Given the description of an element on the screen output the (x, y) to click on. 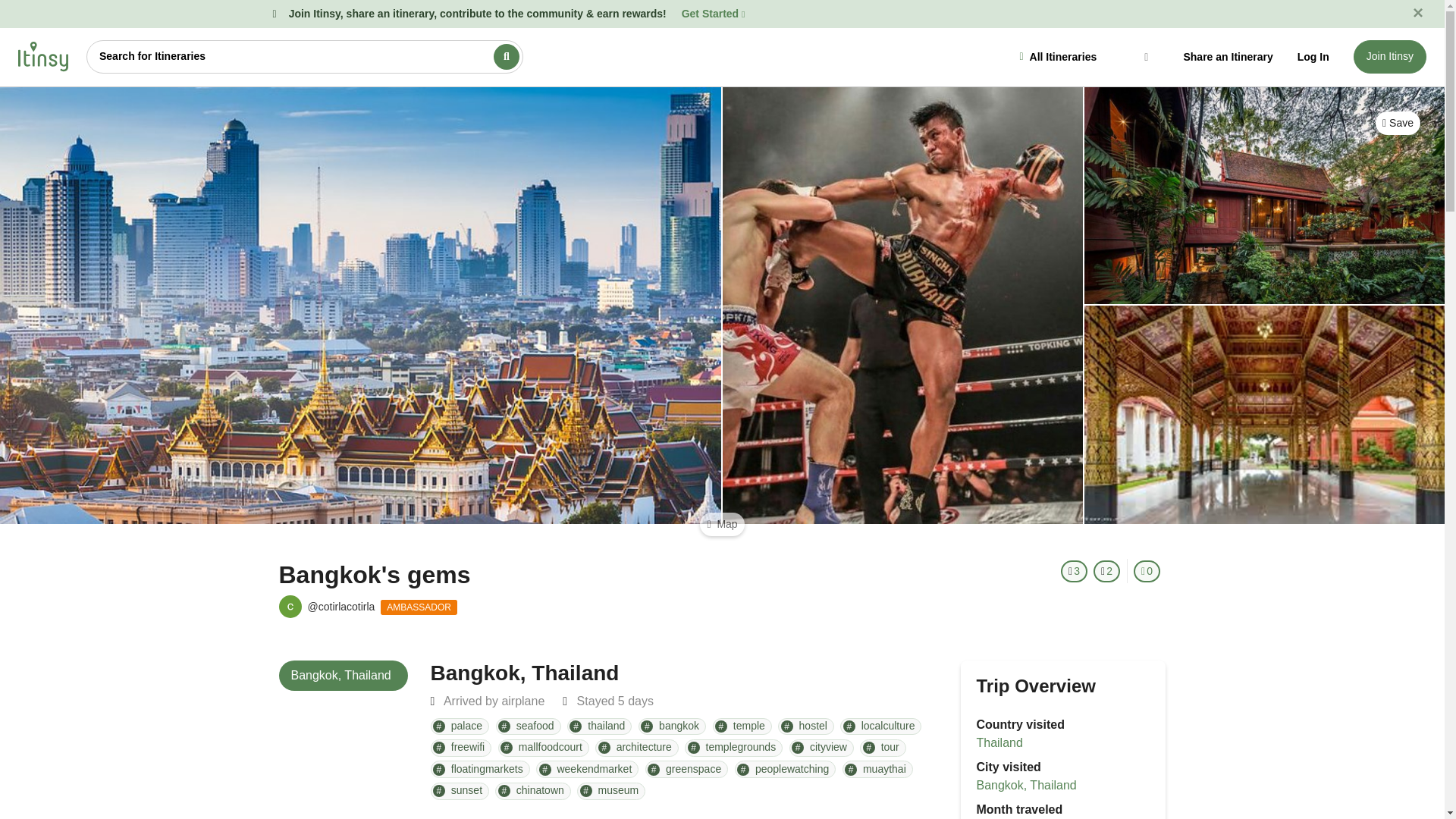
Comments (1147, 570)
0 (1147, 570)
Join Itinsy (1390, 56)
All Itineraries (1085, 56)
Bangkok, Thailand (343, 675)
Map (722, 524)
Get Started (713, 13)
Save (1398, 123)
Log In (1312, 56)
